Given the description of an element on the screen output the (x, y) to click on. 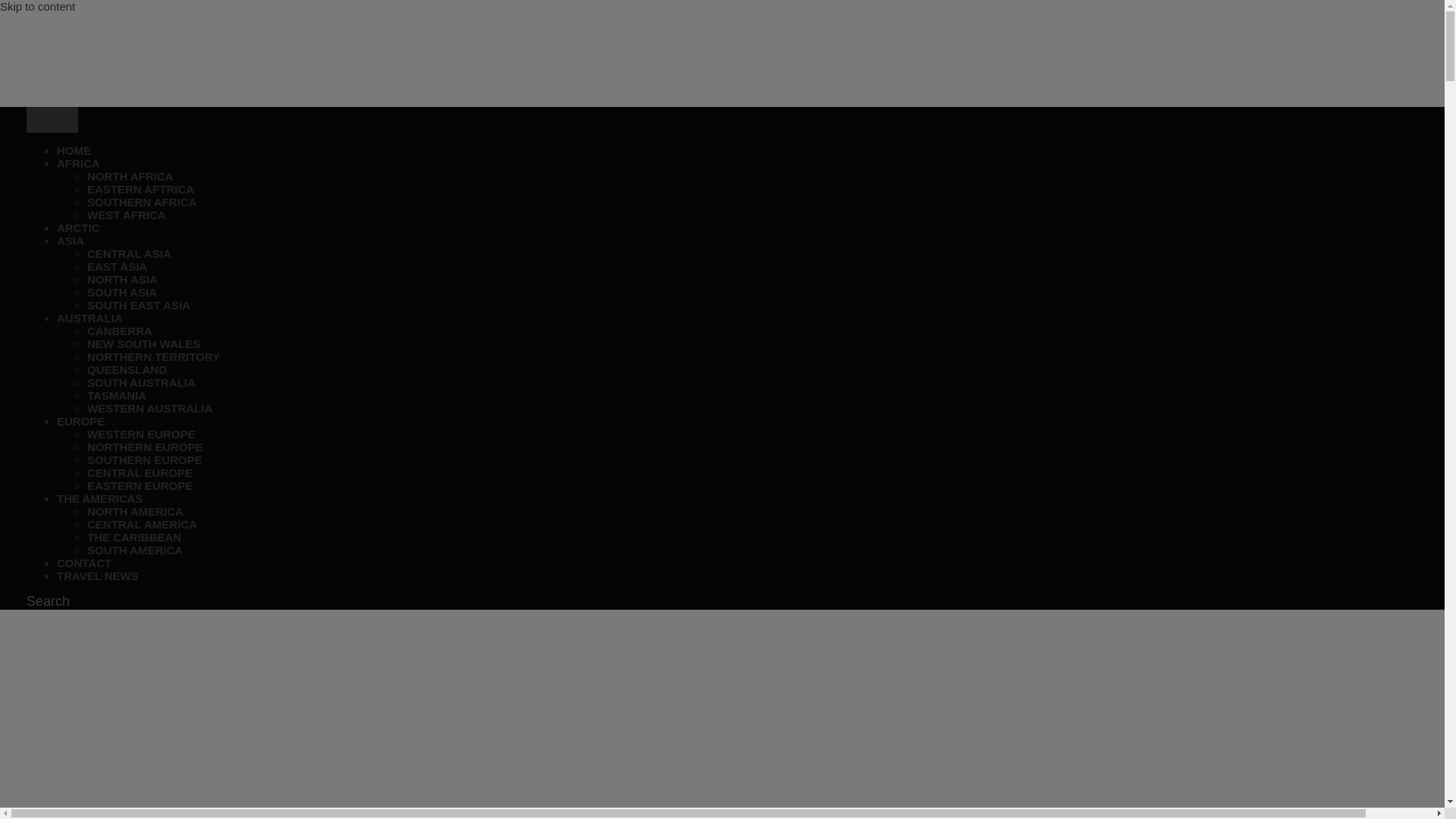
THE AMERICAS (99, 498)
NORTH ASIA (122, 278)
SOUTH AUSTRALIA (141, 382)
AFRICA (78, 163)
WESTERN AUSTRALIA (149, 408)
WEST AFRICA (126, 214)
CONTACT (84, 562)
EASTERN EUROPE (139, 485)
SOUTH ASIA (122, 291)
ARCTIC (78, 227)
